Given the description of an element on the screen output the (x, y) to click on. 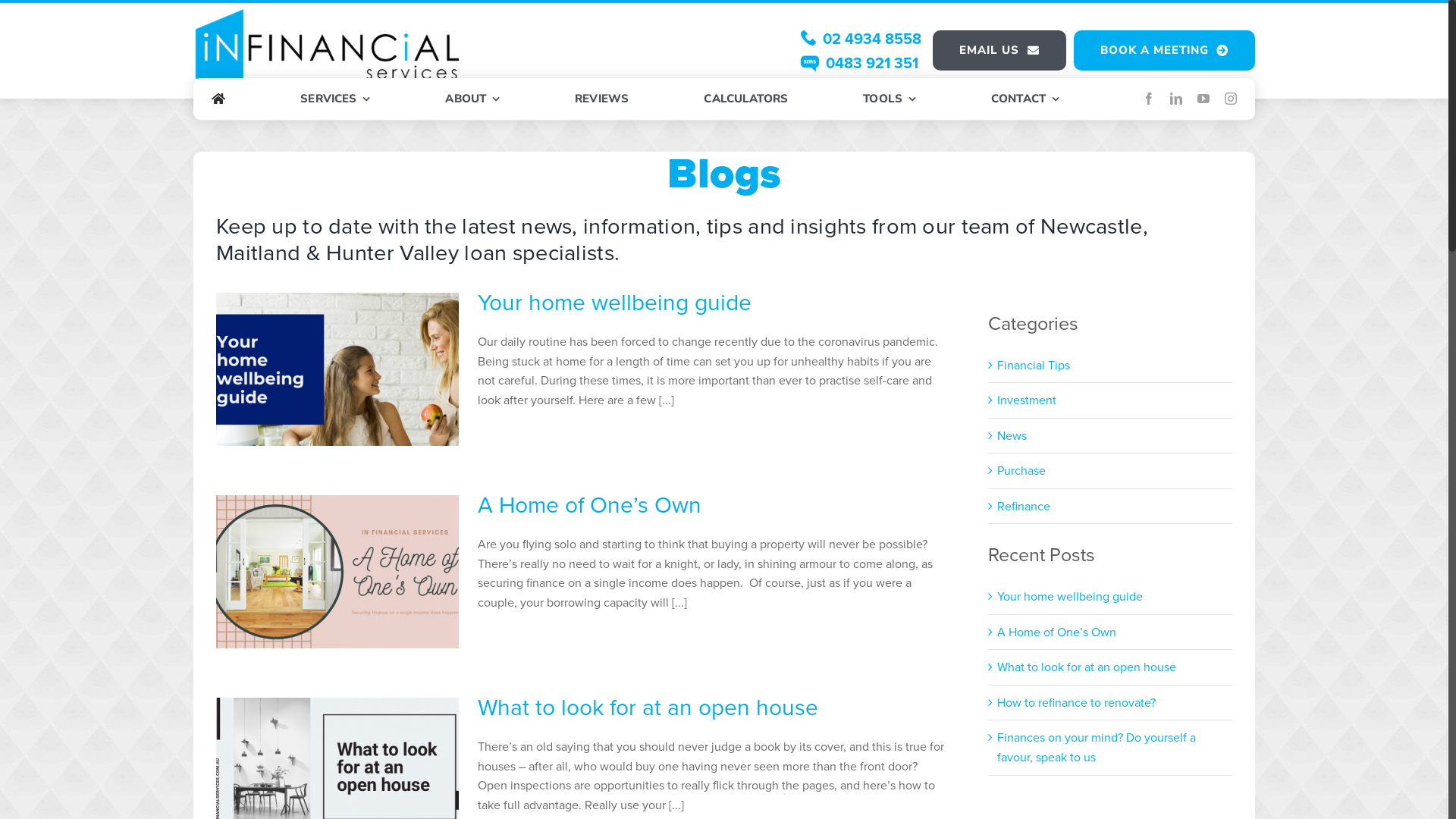
Your home wellbeing guide Element type: text (1069, 596)
Purchase Element type: text (1110, 470)
0483 921 351 Element type: text (859, 62)
Refinance Element type: text (1110, 506)
CALCULATORS Element type: text (745, 98)
What to look for at an open house Element type: text (647, 707)
Your home wellbeing guide Element type: text (614, 302)
EMAIL US Element type: text (999, 50)
ABOUT Element type: text (471, 98)
REVIEWS Element type: text (601, 98)
What to look for at an open house Element type: text (1086, 666)
News Element type: text (1110, 435)
02 4934 8558 Element type: text (860, 38)
CONTACT Element type: text (1025, 98)
SERVICES Element type: text (335, 98)
TOOLS Element type: text (888, 98)
How to refinance to renovate? Element type: text (1076, 702)
BOOK A MEETING Element type: text (1164, 50)
Financial Tips Element type: text (1110, 364)
Investment Element type: text (1110, 400)
Finances on your mind? Do yourself a favour, speak to us Element type: text (1096, 746)
